Given the description of an element on the screen output the (x, y) to click on. 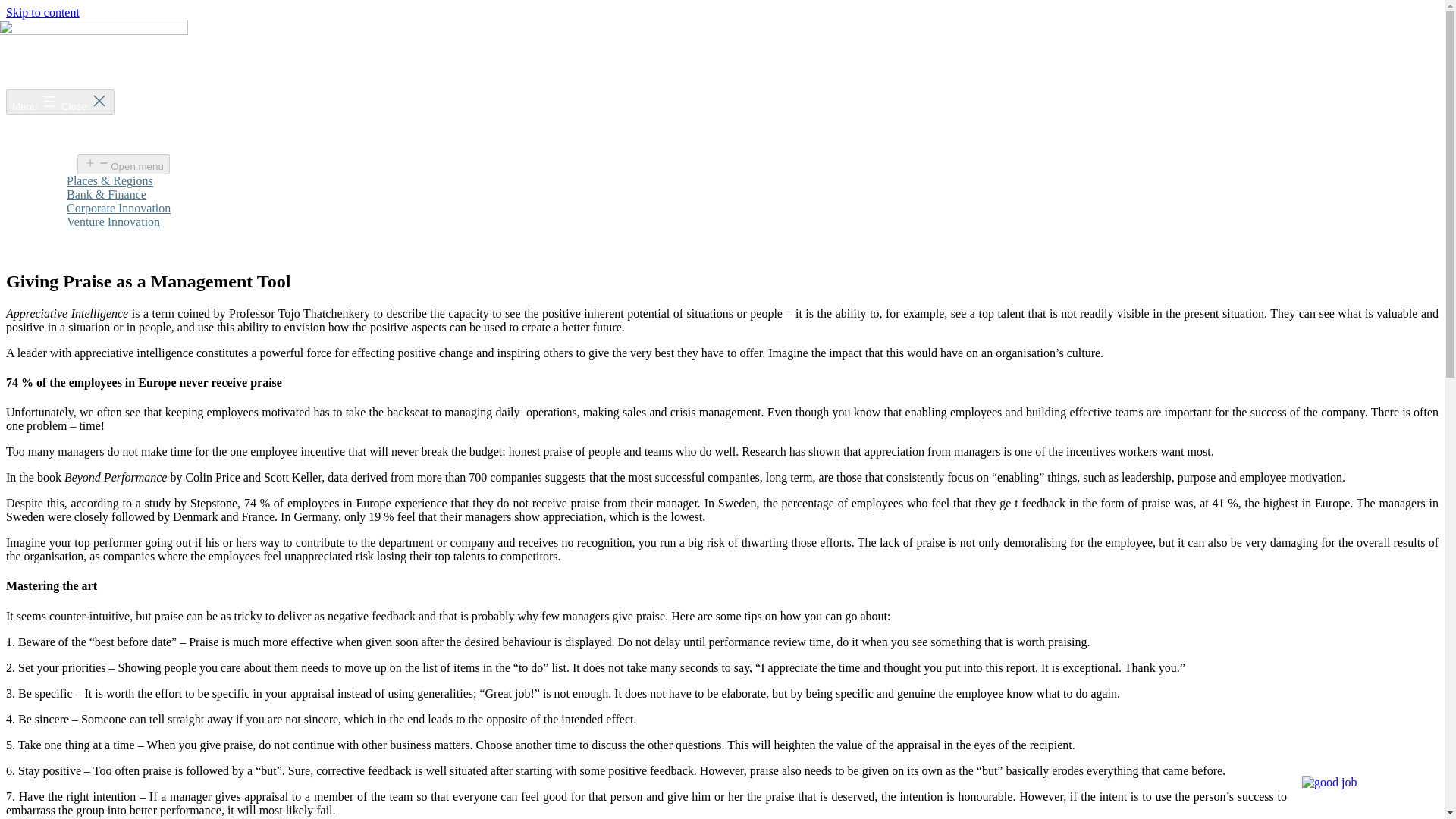
Skip to content (42, 11)
Contact (55, 248)
Open menu (123, 163)
About Us (59, 146)
Home (50, 132)
Venture Innovation (113, 221)
Blog (47, 235)
Corporate Innovation (118, 207)
Services (56, 164)
Menu Close (60, 101)
